Given the description of an element on the screen output the (x, y) to click on. 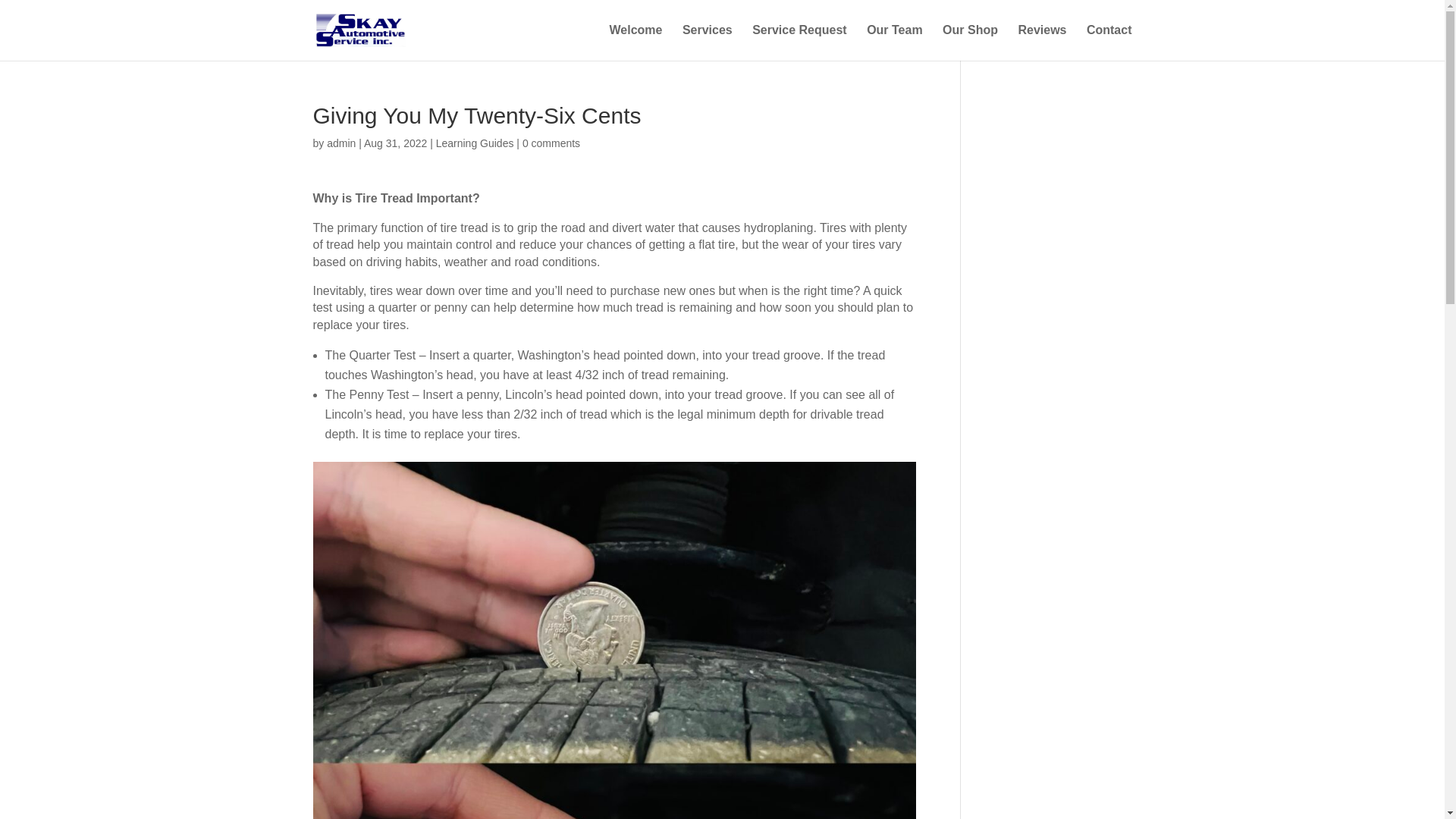
Welcome (635, 42)
Posts by admin (340, 143)
Service Request (799, 42)
Contact (1109, 42)
0 comments (550, 143)
Our Shop (969, 42)
admin (340, 143)
Learning Guides (474, 143)
Our Team (894, 42)
Services (707, 42)
Reviews (1041, 42)
